Given the description of an element on the screen output the (x, y) to click on. 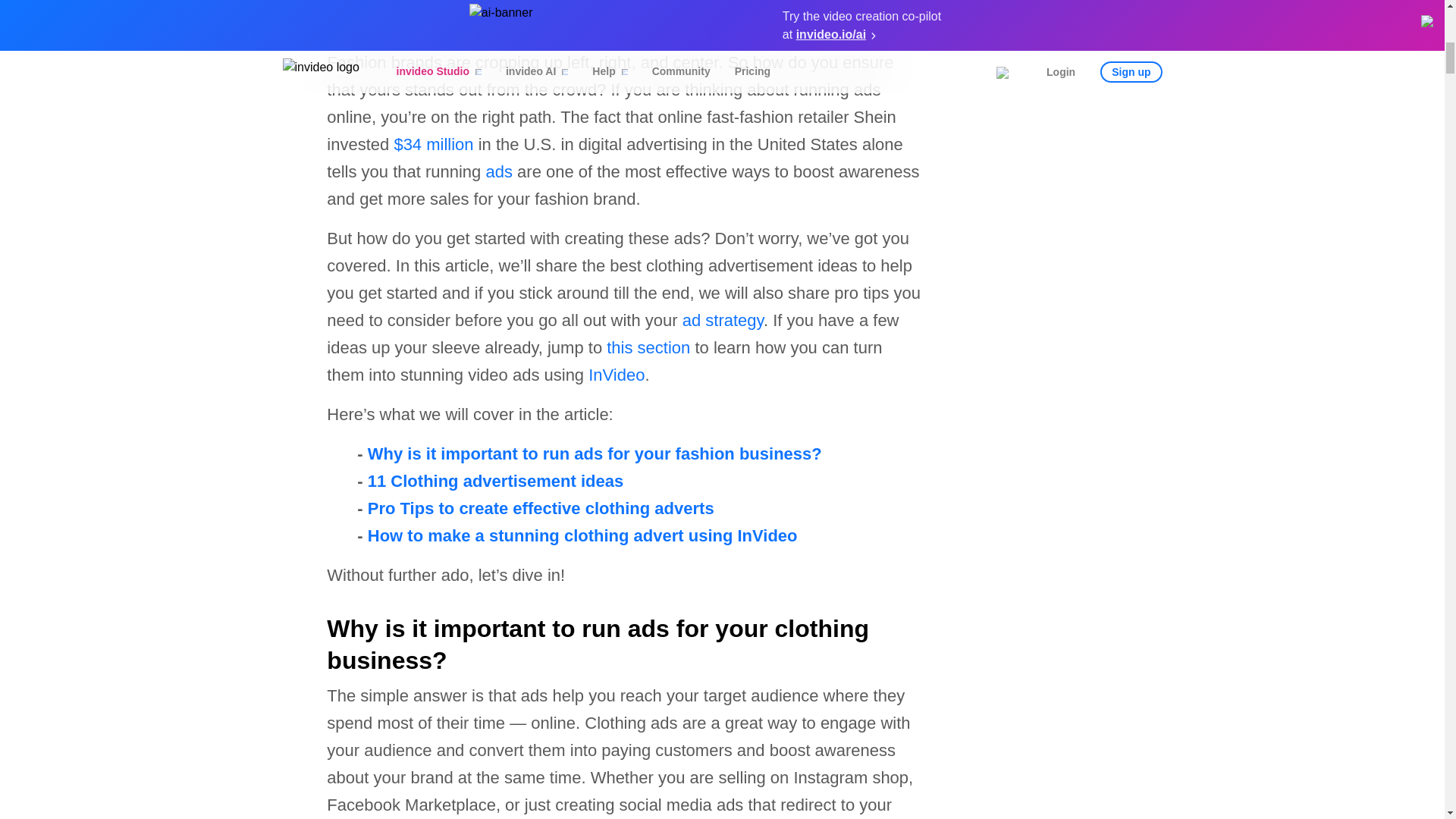
How to make a stunning clothing advert using InVideo  (585, 535)
11 Clothing advertisement ideas (495, 480)
this section (648, 347)
ad strategy (722, 320)
Pro Tips to create effective clothing adverts (541, 507)
Why is it important to run ads for your fashion business? (595, 453)
InVideo (616, 374)
ads (498, 171)
